Given the description of an element on the screen output the (x, y) to click on. 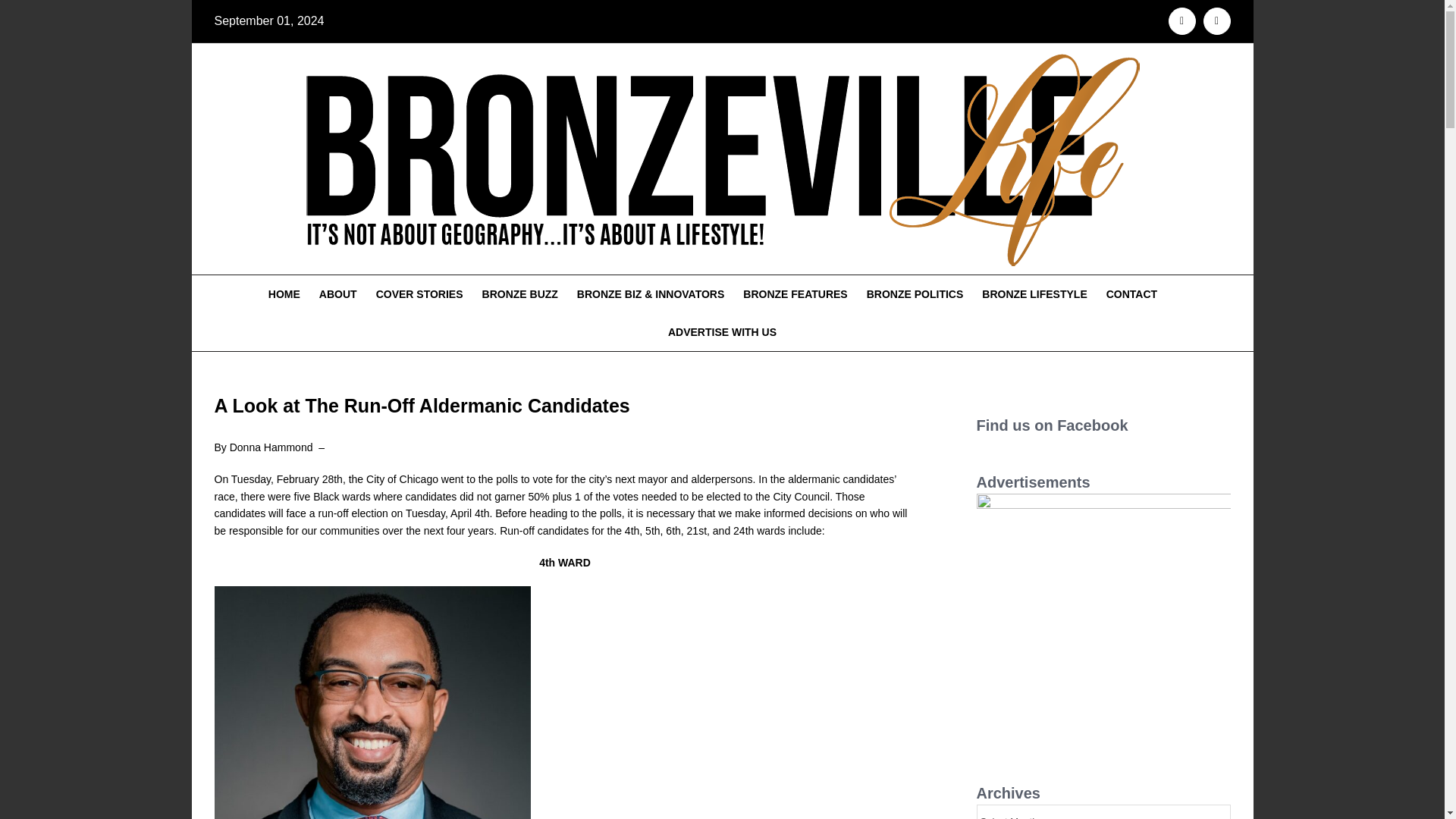
Facebook (1181, 21)
CONTACT (1131, 293)
BRONZE POLITICS (914, 293)
Instagram (1216, 21)
ADVERTISE WITH US (722, 331)
BRONZE FEATURES (794, 293)
Instagram (1216, 21)
ABOUT (337, 293)
BRONZE LIFESTYLE (1033, 293)
BRONZE BUZZ (519, 293)
